Given the description of an element on the screen output the (x, y) to click on. 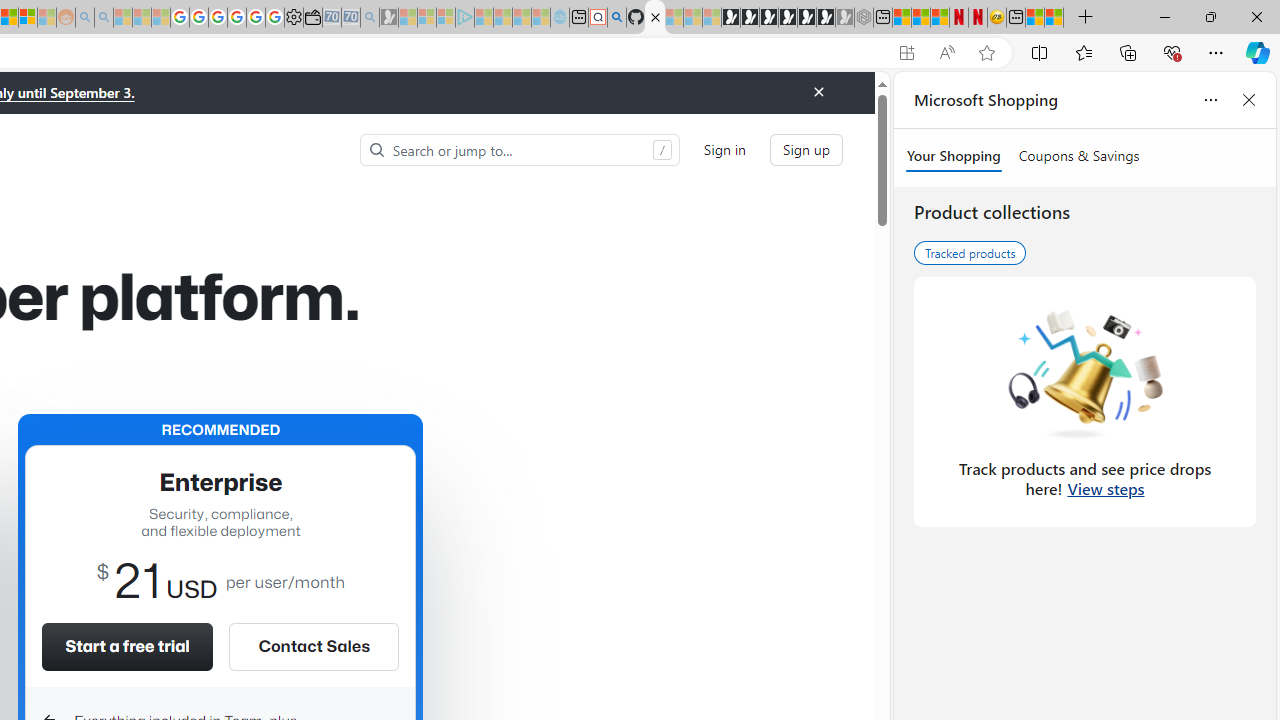
App available. Install GitHub (906, 53)
Wallet (312, 17)
